Given the description of an element on the screen output the (x, y) to click on. 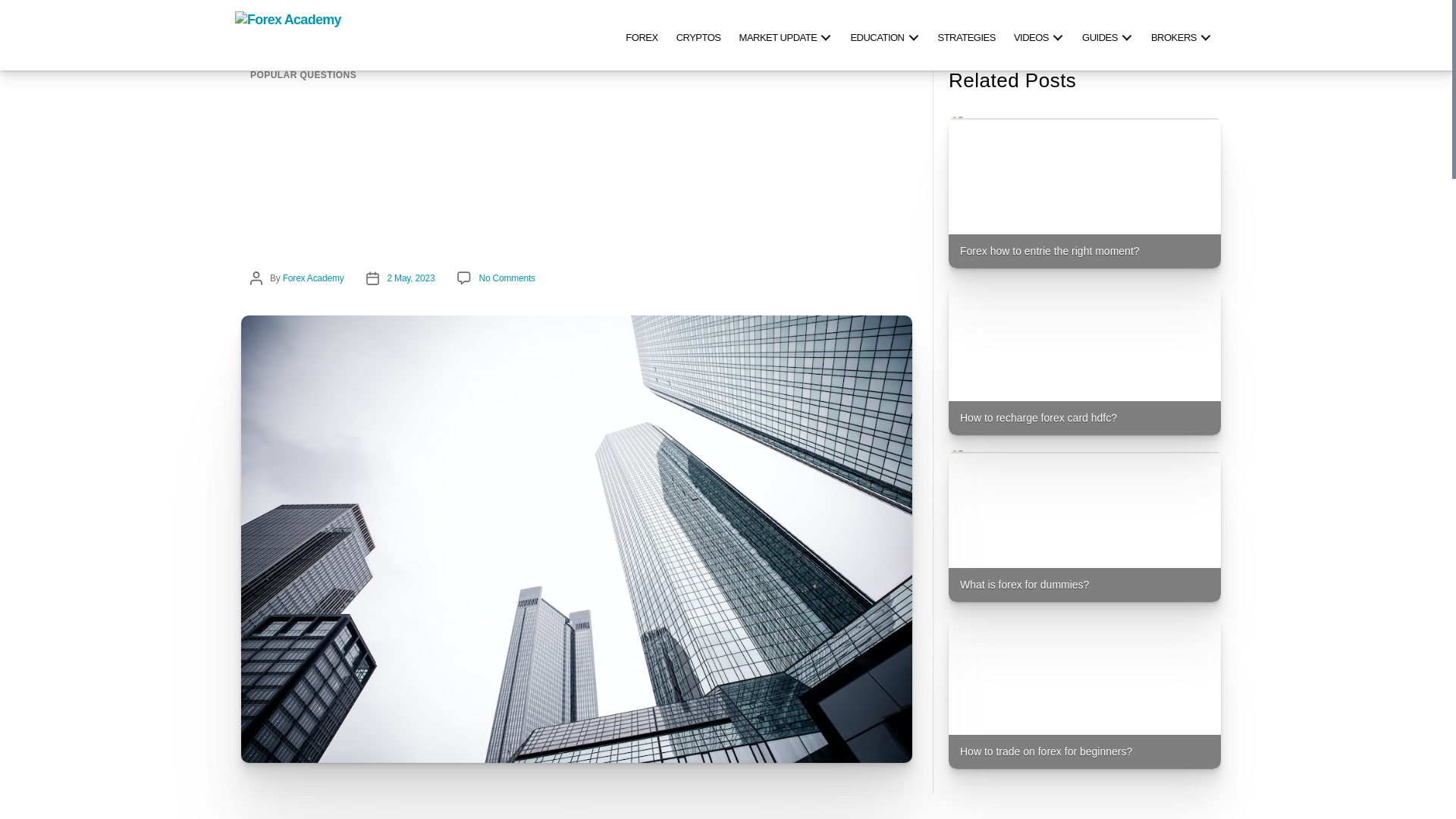
GUIDES (1107, 35)
CRYPTOS (698, 35)
How to recharge forex card hdfc? (1085, 358)
BROKERS (1181, 35)
MARKET UPDATE (785, 35)
STRATEGIES (966, 35)
Forex how to entrie the right moment? (1085, 192)
VIDEOS (1038, 35)
EDUCATION (884, 35)
What is forex for dummies? (1085, 525)
How to trade on forex for beginners? (1085, 693)
